Given the description of an element on the screen output the (x, y) to click on. 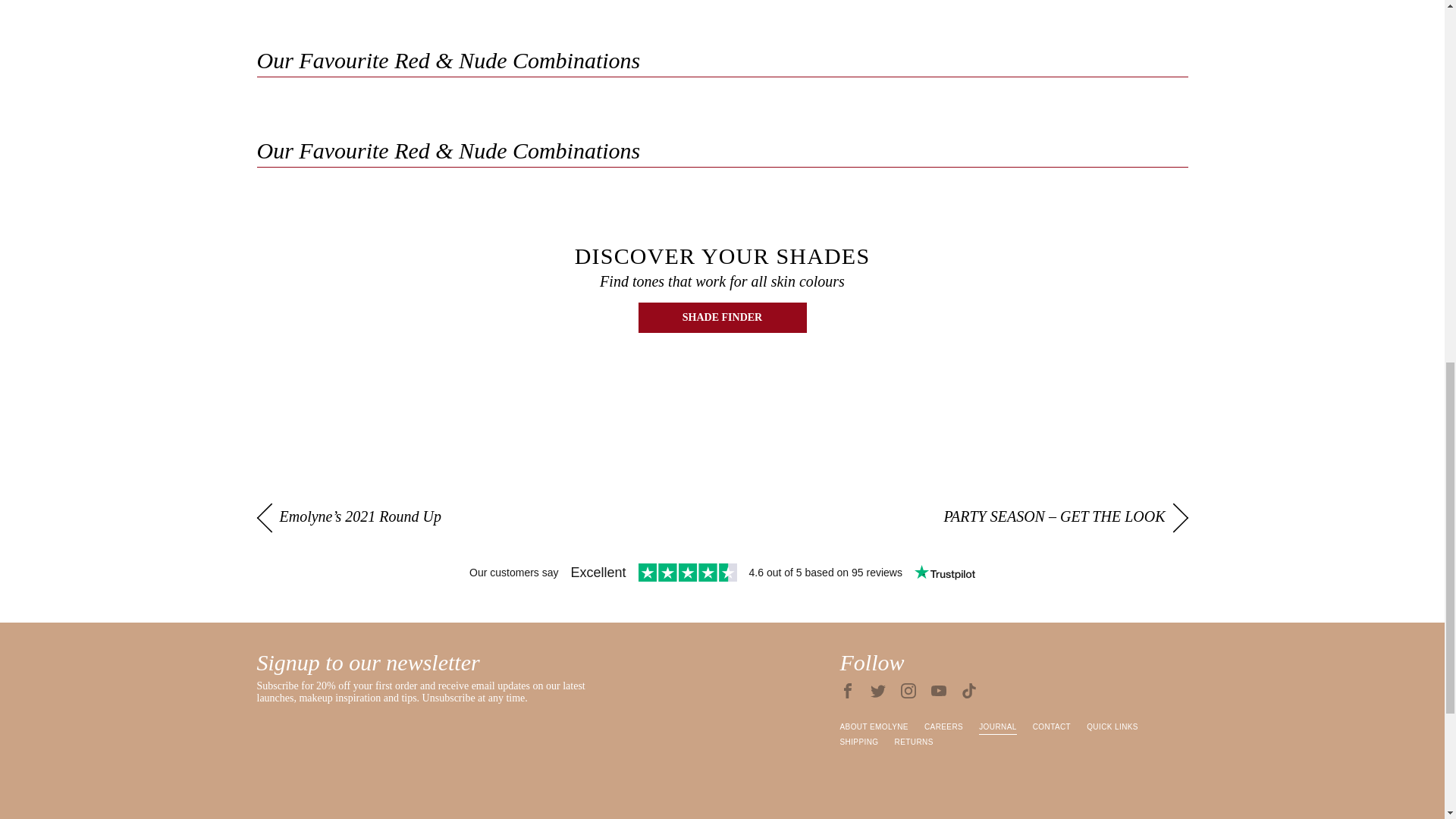
QUICK LINKS (1112, 726)
Twitter (877, 690)
CAREERS (943, 726)
SHADE FINDER (722, 317)
CONTACT (1051, 726)
ABOUT EMOLYNE (874, 726)
TikTok (968, 690)
Facebook (848, 690)
JOURNAL (997, 726)
Youtube (938, 690)
Instagram (908, 690)
